Given the description of an element on the screen output the (x, y) to click on. 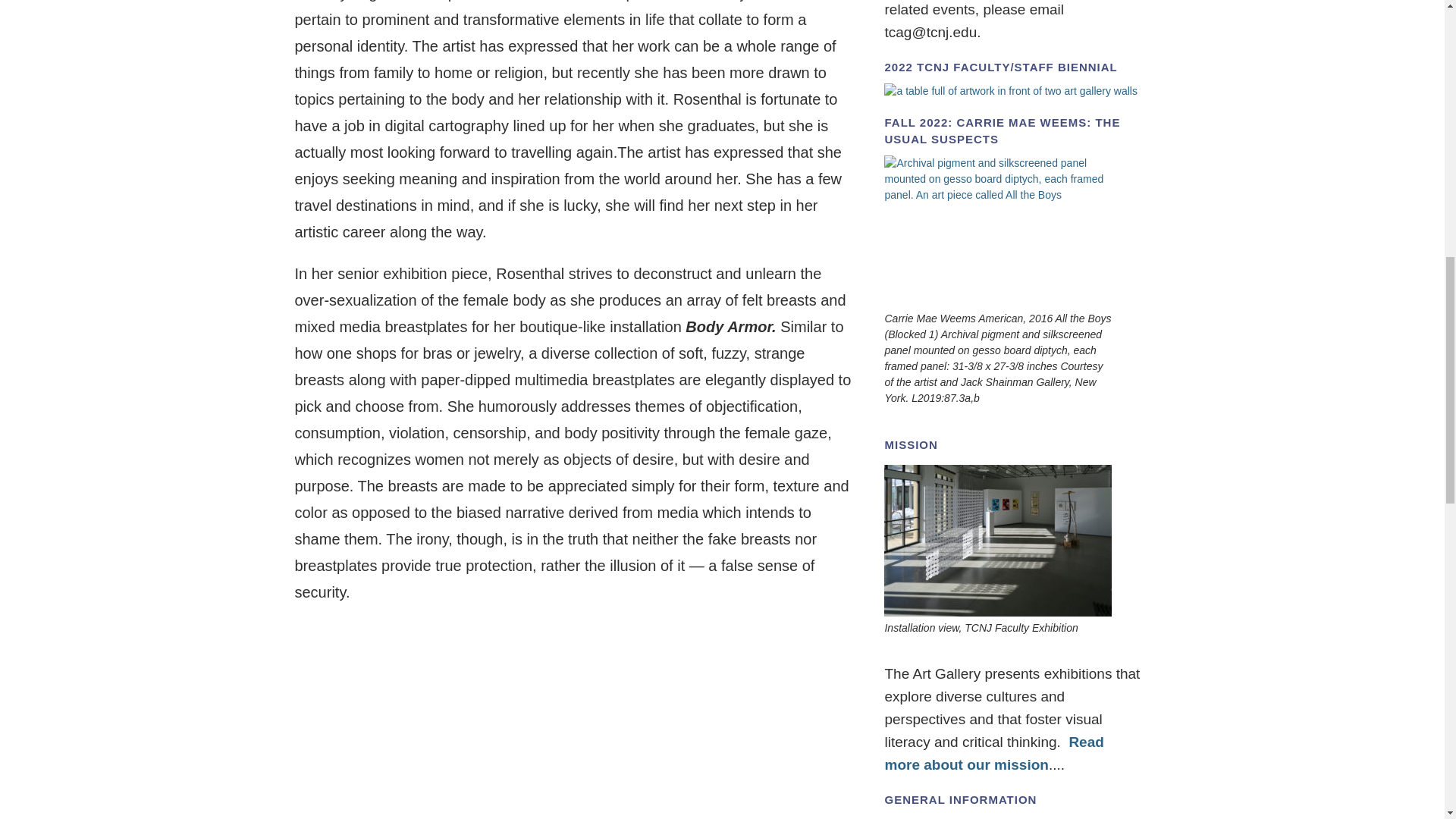
Now on View: Meaningful Beauty (997, 231)
Photo Workshop with Andrea "Philly" Walls! (1010, 91)
